Given the description of an element on the screen output the (x, y) to click on. 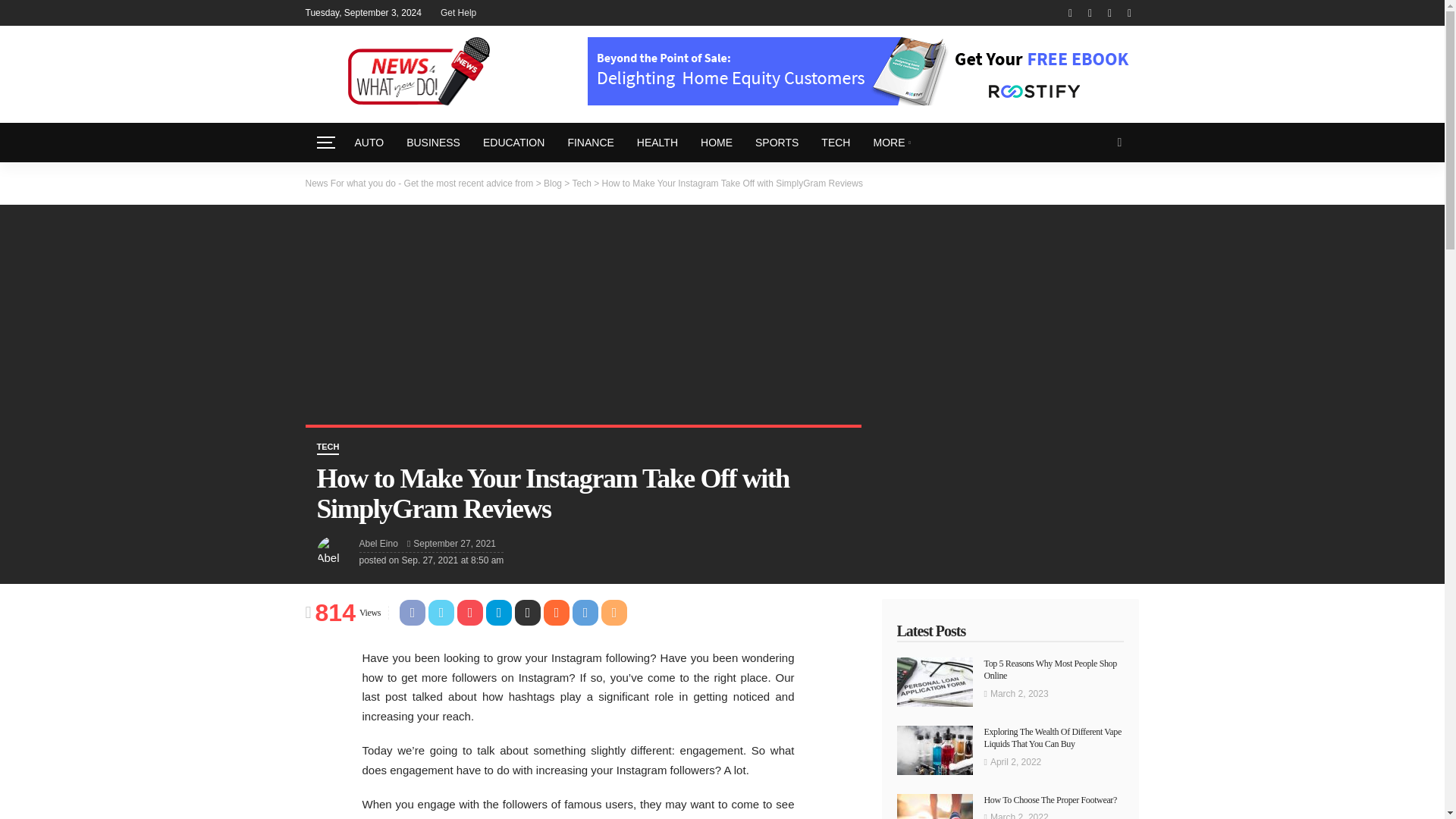
EDUCATION (513, 142)
HEALTH (657, 142)
FINANCE (590, 142)
BUSINESS (432, 142)
Blog (552, 182)
AUTO (368, 142)
MORE (891, 142)
SPORTS (776, 142)
search (1118, 142)
